Given the description of an element on the screen output the (x, y) to click on. 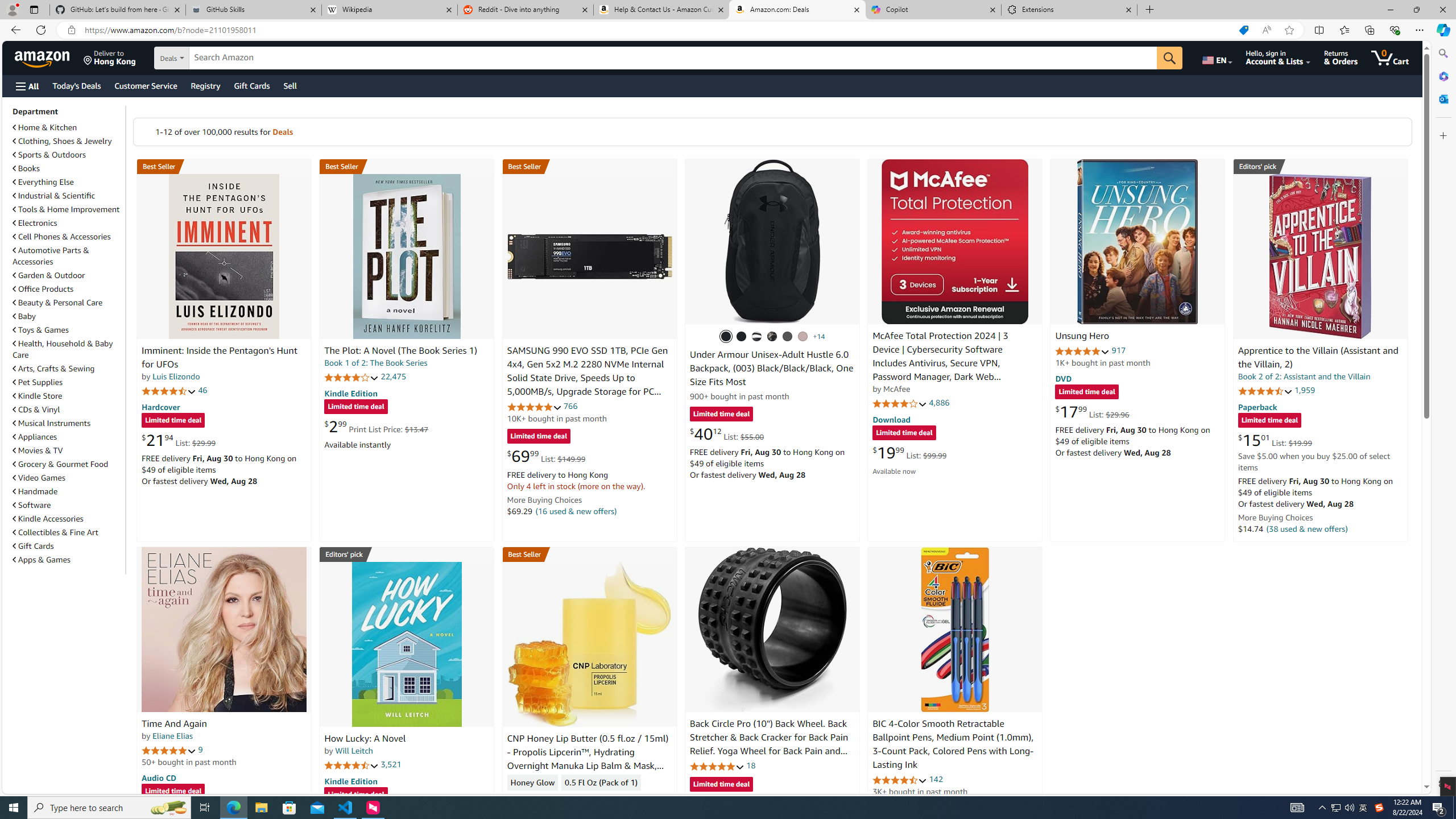
$15.01 List: $19.99 (1274, 439)
Favorites (1344, 29)
0 items in cart (1389, 57)
4.2 out of 5 stars (352, 377)
4.3 out of 5 stars (534, 799)
$2.99 Print List Price: $13.47 (376, 426)
Editors' pick Best Science Fiction & Fantasy (1320, 165)
4.7 out of 5 stars (168, 390)
Restore (1416, 9)
$40.12 List: $55.00 (726, 433)
Software (67, 505)
4,886 (938, 402)
Back (13, 29)
